Given the description of an element on the screen output the (x, y) to click on. 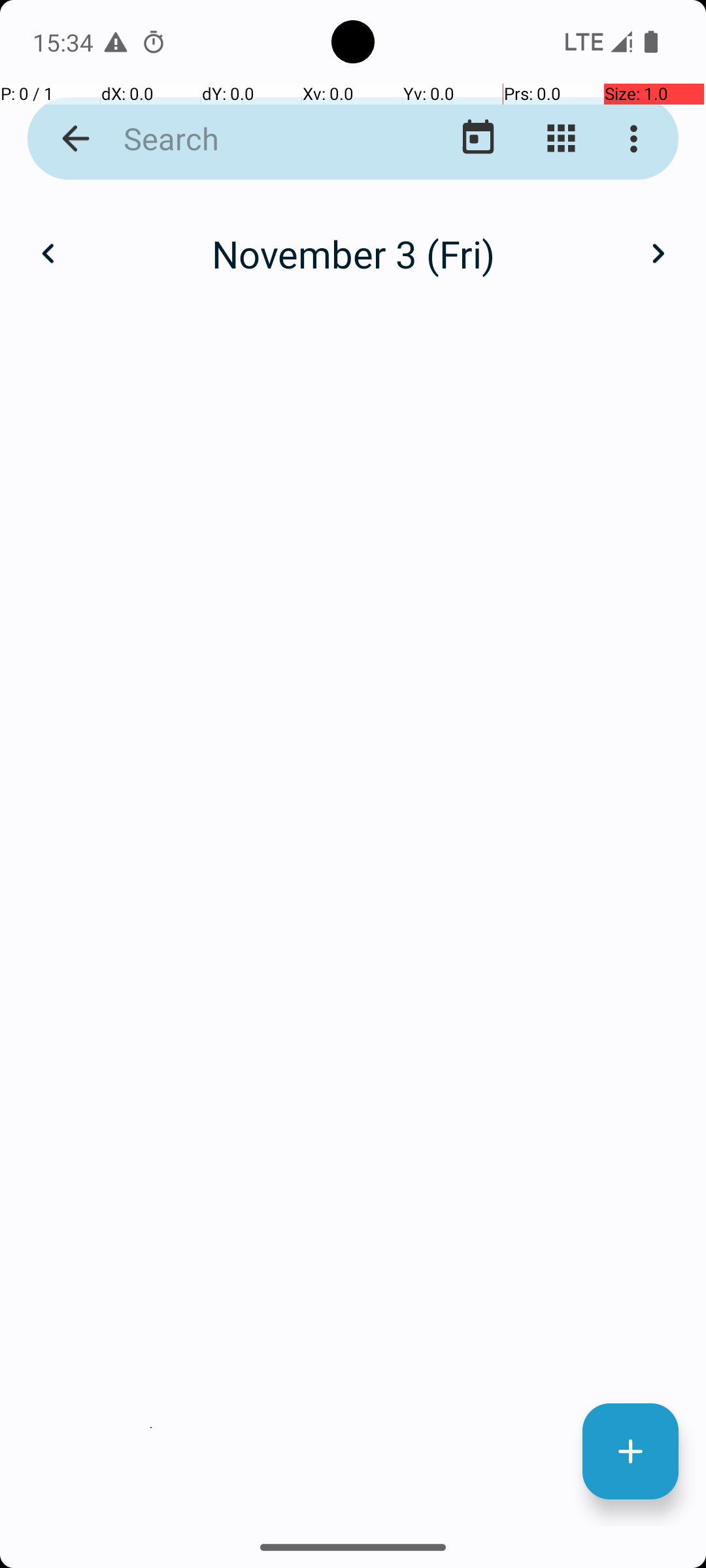
November 3 (Fri) Element type: android.widget.TextView (352, 253)
